Given the description of an element on the screen output the (x, y) to click on. 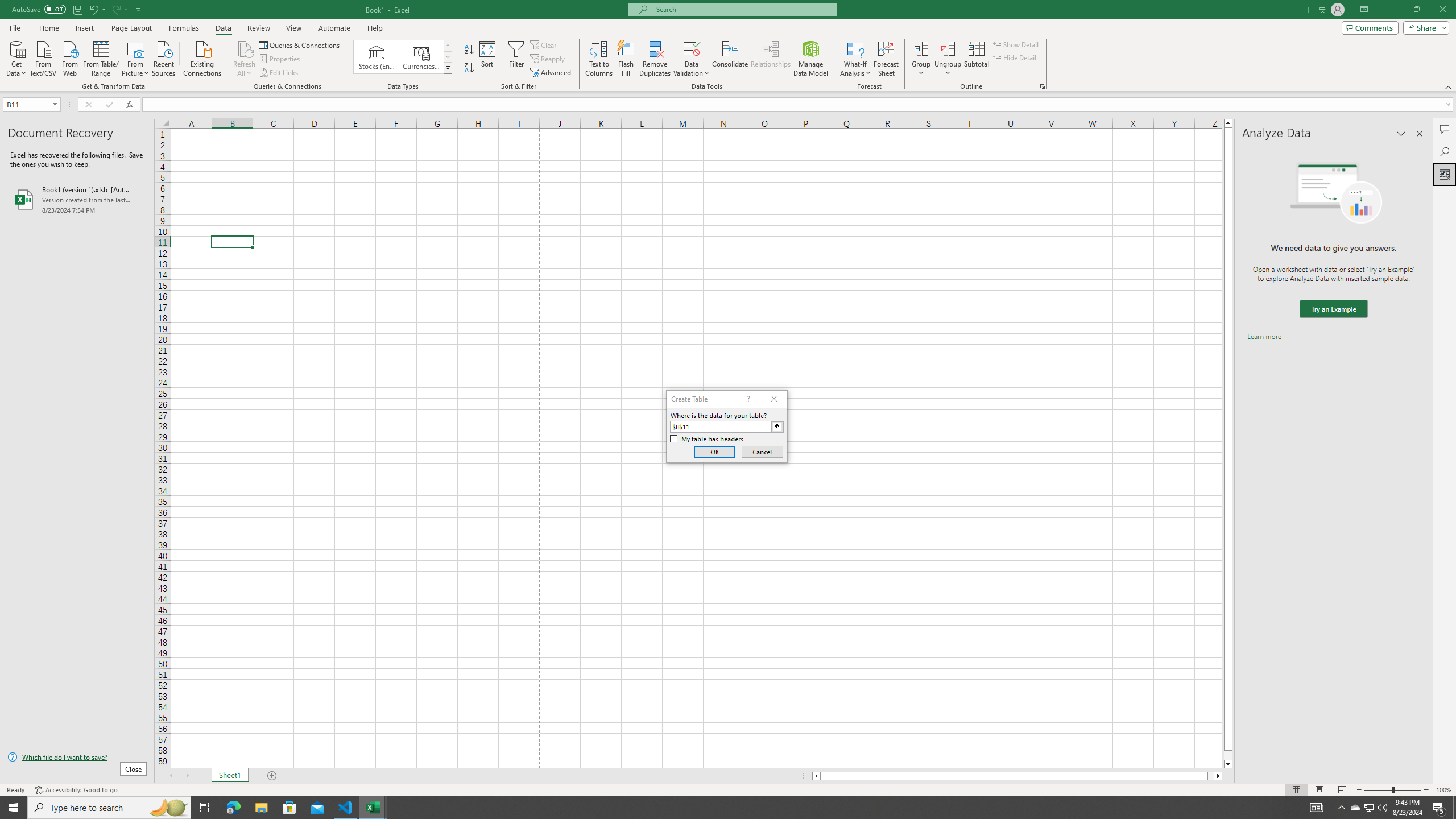
Sort... (487, 58)
Get Data (16, 57)
Flash Fill (625, 58)
Stocks (English) (375, 56)
